Given the description of an element on the screen output the (x, y) to click on. 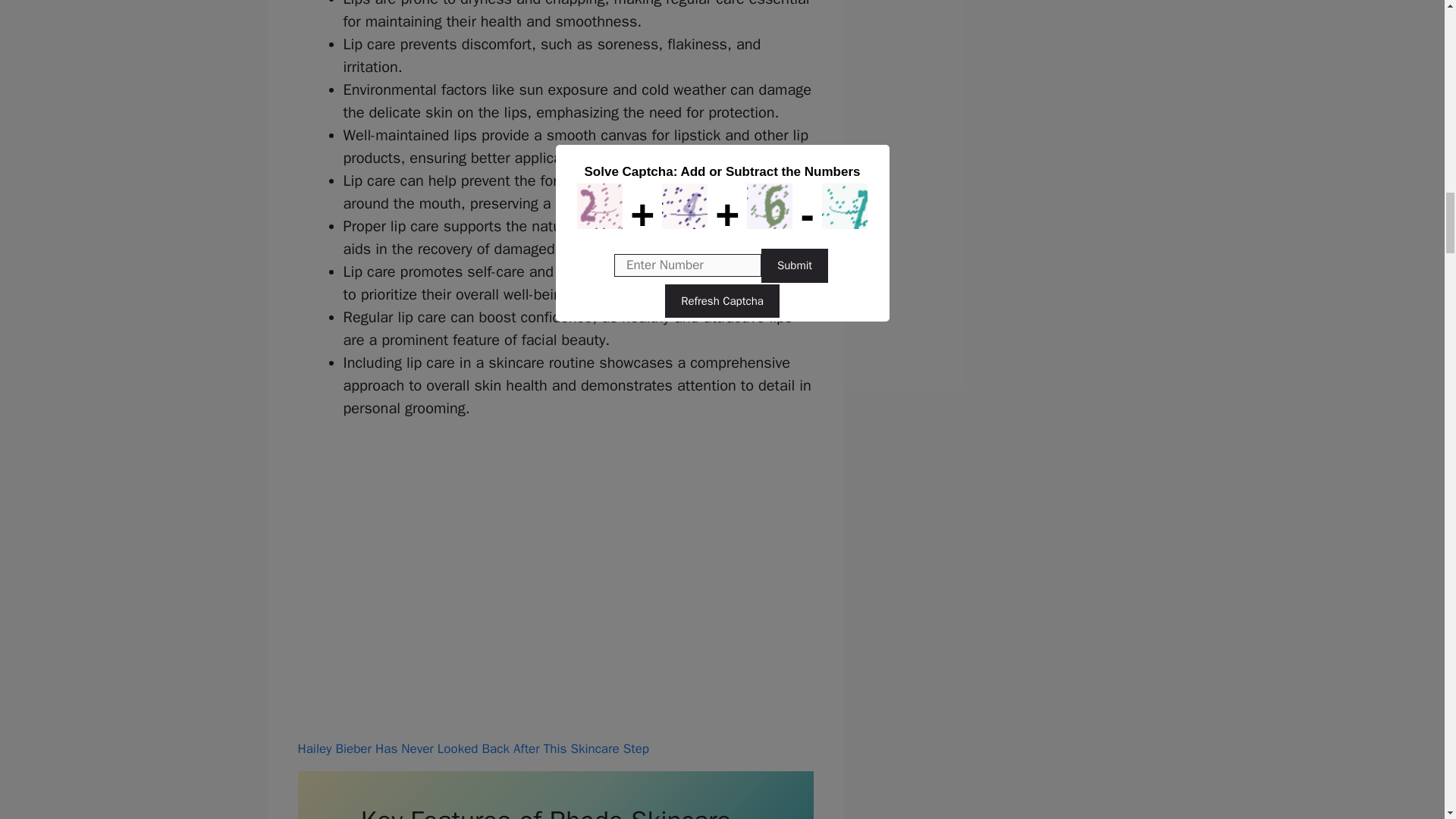
Hailey Bieber Has Never Looked Back After This Skincare Step (472, 748)
